Given the description of an element on the screen output the (x, y) to click on. 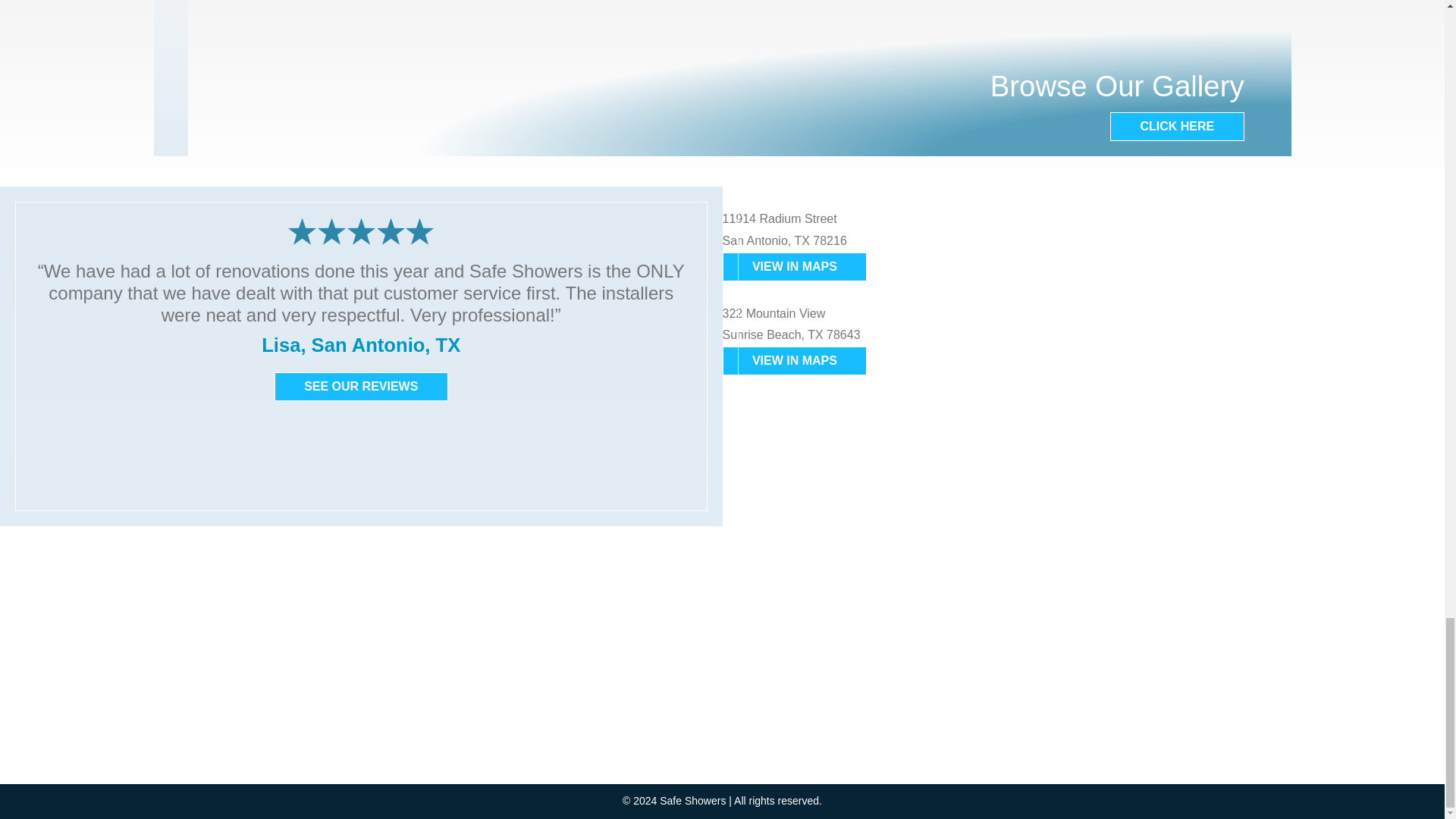
Facebook (82, 573)
Yelp (117, 573)
